Given the description of an element on the screen output the (x, y) to click on. 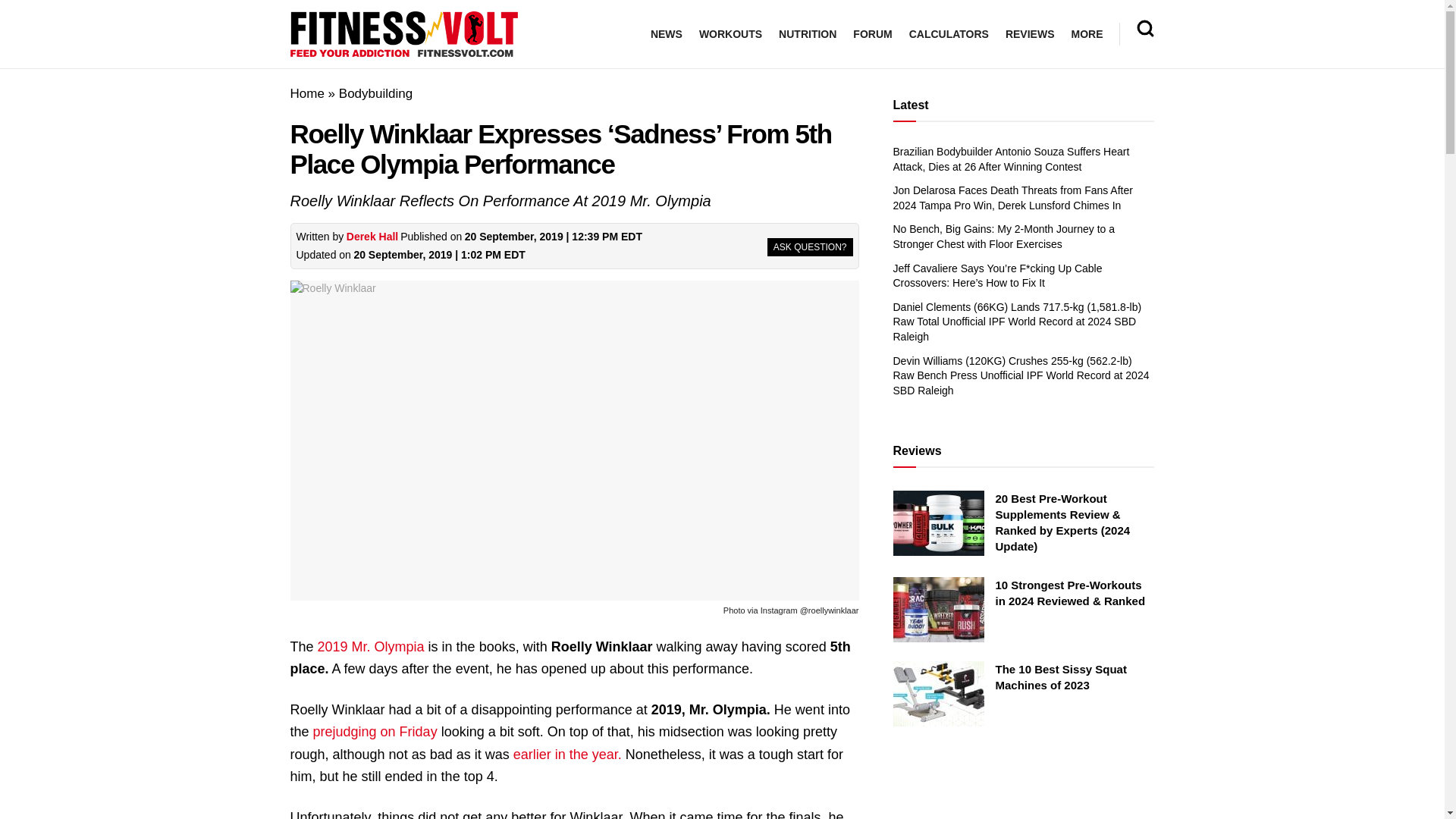
NUTRITION (806, 34)
CALCULATORS (948, 34)
NEWS (666, 34)
MORE (1086, 34)
FORUM (872, 34)
WORKOUTS (729, 34)
REVIEWS (1030, 34)
